Given the description of an element on the screen output the (x, y) to click on. 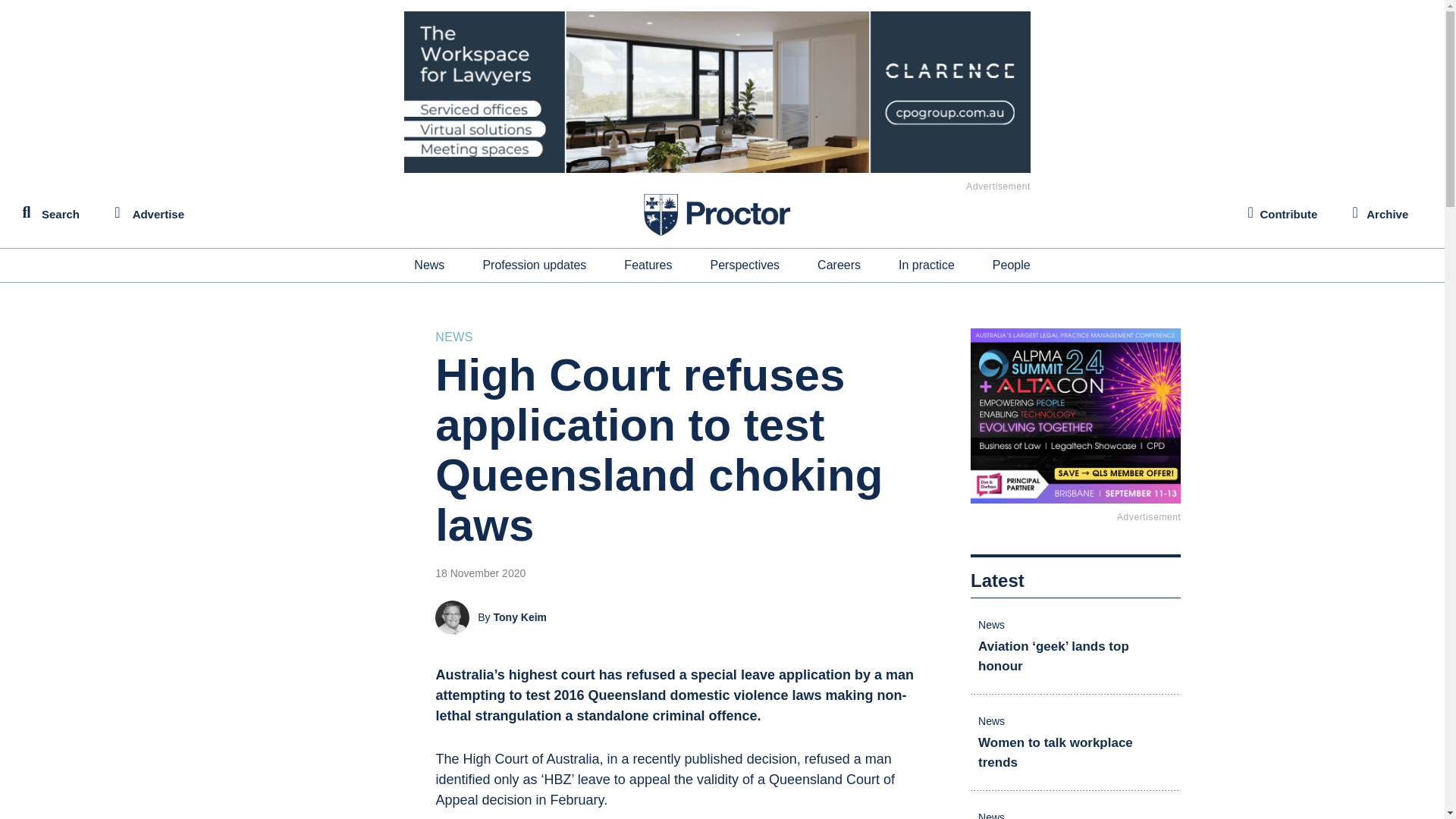
In practice (926, 264)
Features (647, 264)
Perspectives (745, 264)
Careers (838, 264)
Profession updates (534, 264)
News (428, 264)
People (1011, 264)
